Given the description of an element on the screen output the (x, y) to click on. 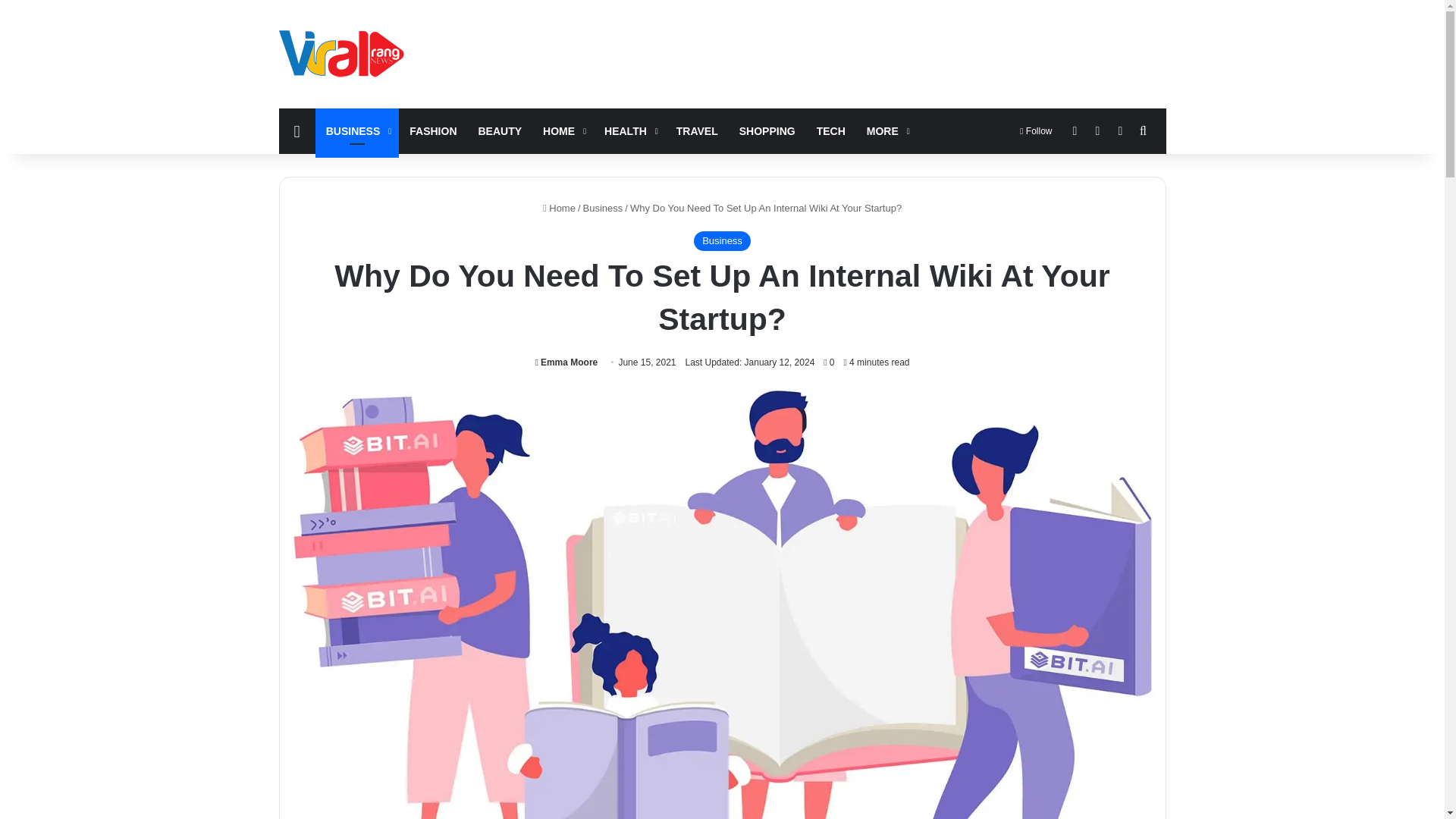
Viral Rang (344, 53)
Emma Moore (565, 362)
FASHION (432, 130)
HOME (563, 130)
HEALTH (629, 130)
MORE (886, 130)
TRAVEL (697, 130)
TECH (831, 130)
Follow (1035, 130)
BUSINESS (356, 130)
SHOPPING (767, 130)
BEAUTY (499, 130)
